Given the description of an element on the screen output the (x, y) to click on. 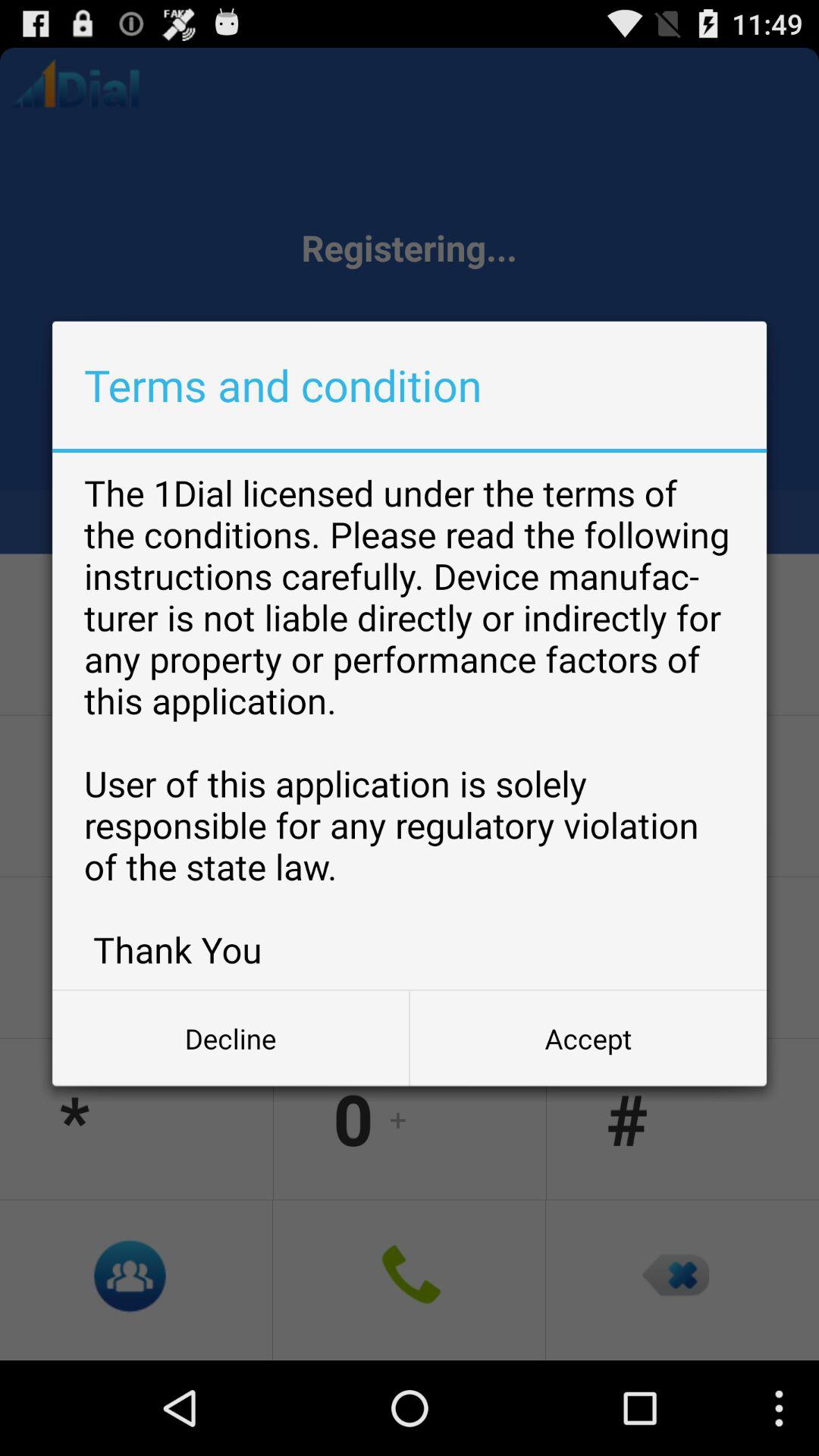
choose app below the 1dial licensed app (230, 1038)
